Given the description of an element on the screen output the (x, y) to click on. 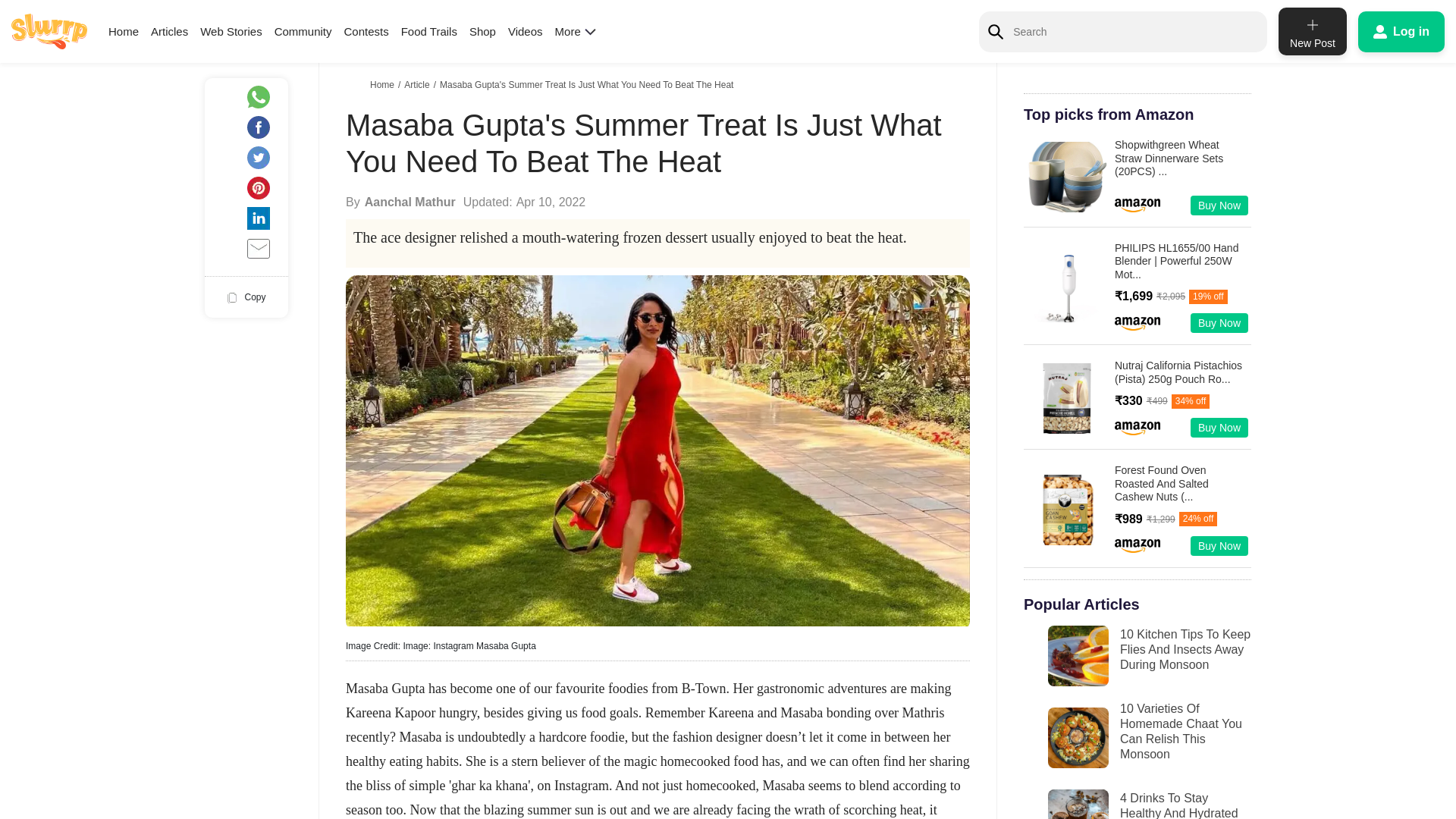
Videos (525, 31)
Shop (482, 31)
user login (1401, 30)
Web Stories (231, 31)
New Post (1312, 31)
Food Trails (429, 31)
Articles (169, 31)
Contests (365, 31)
Log in (1401, 30)
Home (122, 31)
Community (303, 31)
